Given the description of an element on the screen output the (x, y) to click on. 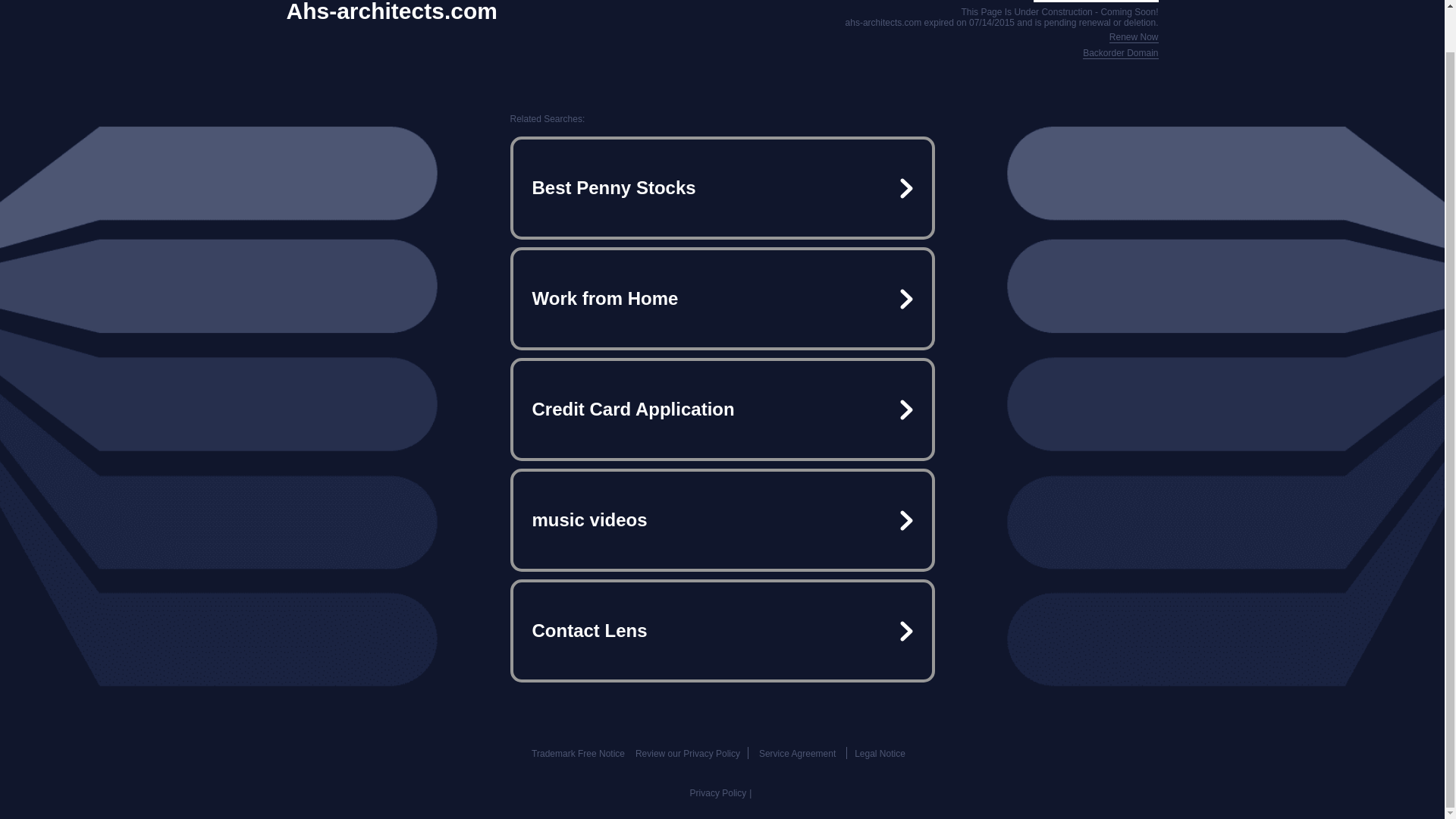
Service Agreement (796, 753)
Ahs-architects.com (391, 12)
Privacy Policy (718, 792)
Best Penny Stocks (721, 187)
Contact Lens (721, 630)
Work from Home (721, 298)
Renew Now (1133, 37)
Contact Lens (721, 630)
music videos (721, 519)
music videos (721, 519)
Review our Privacy Policy (686, 753)
Work from Home (721, 298)
Credit Card Application (721, 409)
Backorder Domain (1120, 52)
Credit Card Application (721, 409)
